Given the description of an element on the screen output the (x, y) to click on. 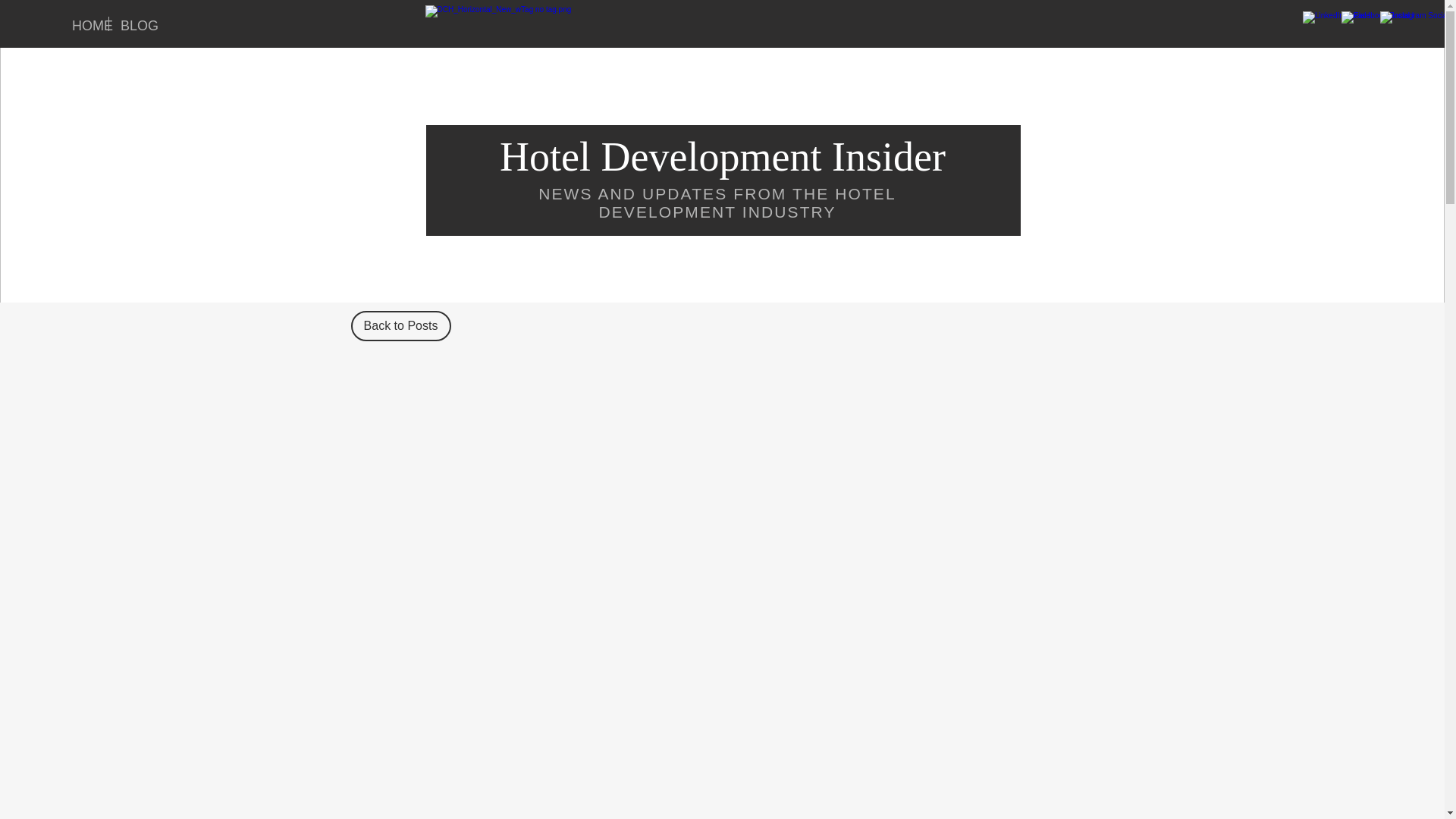
Back to Posts (399, 326)
BLOG (131, 23)
HOME (84, 23)
